Given the description of an element on the screen output the (x, y) to click on. 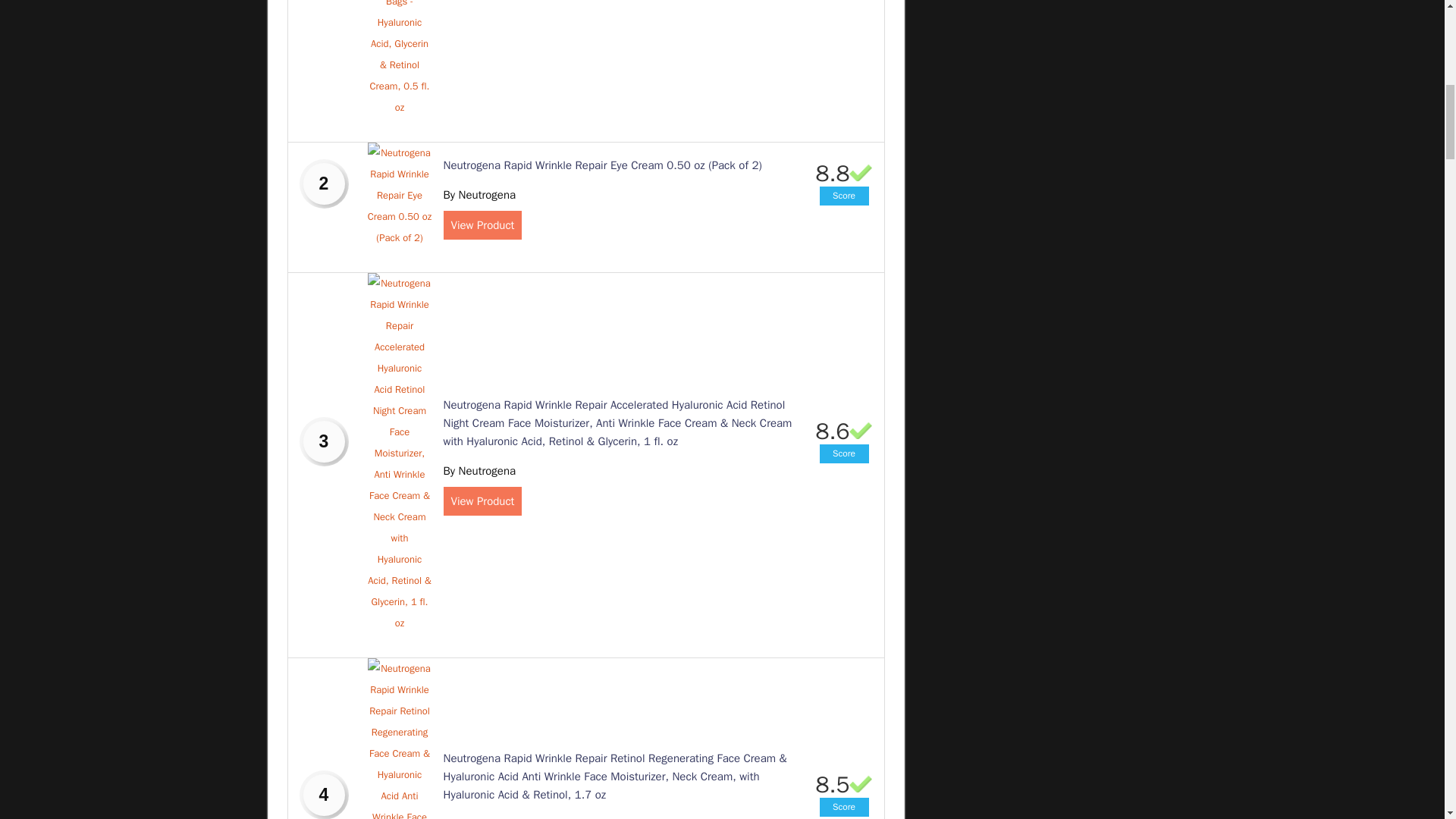
By Neutrogena (478, 470)
View Product (481, 224)
View Product (481, 500)
By Neutrogena (478, 818)
By Neutrogena (478, 194)
